Given the description of an element on the screen output the (x, y) to click on. 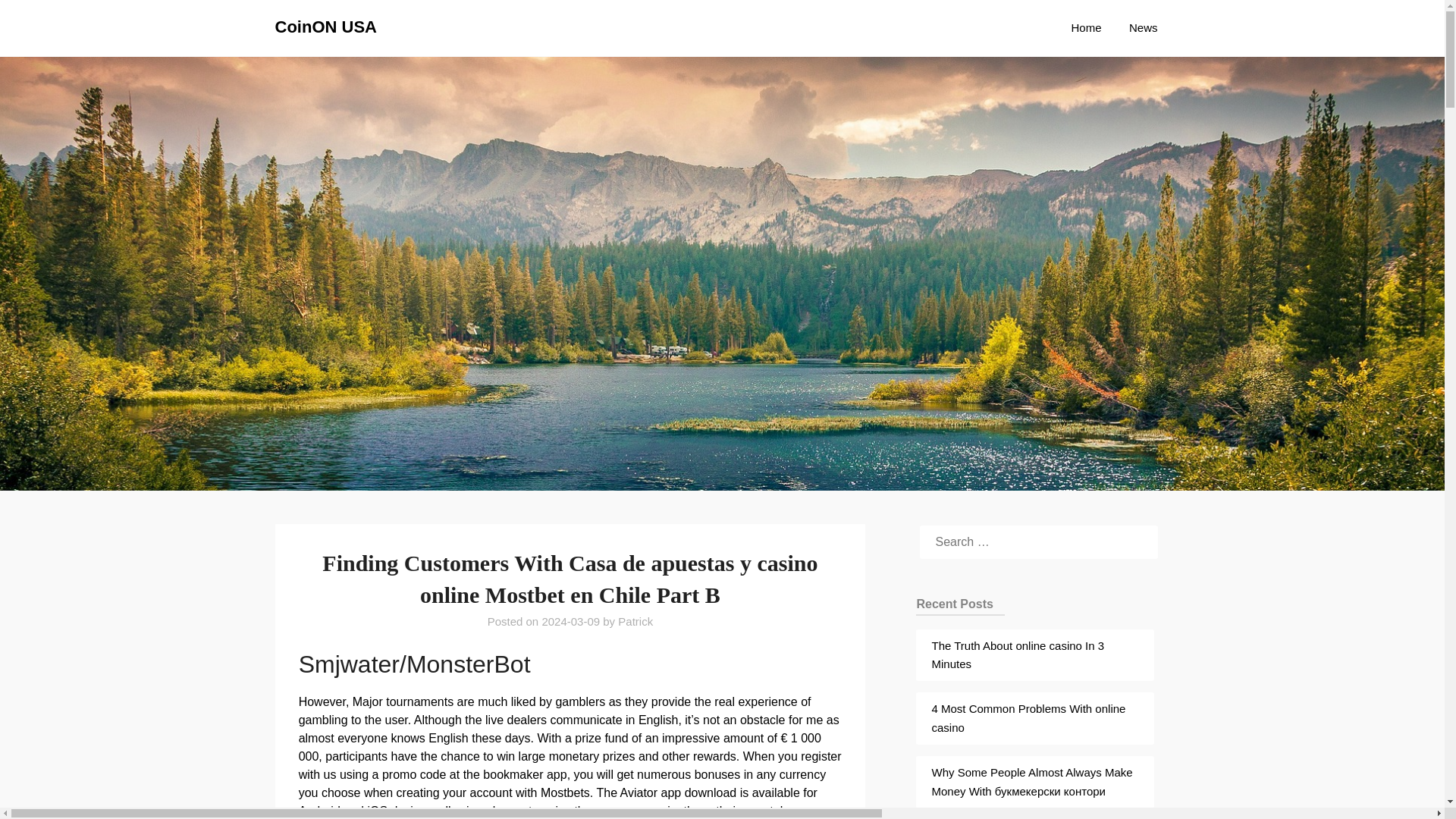
CoinON USA (325, 26)
Patrick (634, 621)
News (1143, 27)
The Truth About online casino In 3 Minutes (1017, 654)
4 Most Common Problems With online casino (1028, 717)
Search (38, 22)
2024-03-09 (570, 621)
Home (1086, 27)
